Given the description of an element on the screen output the (x, y) to click on. 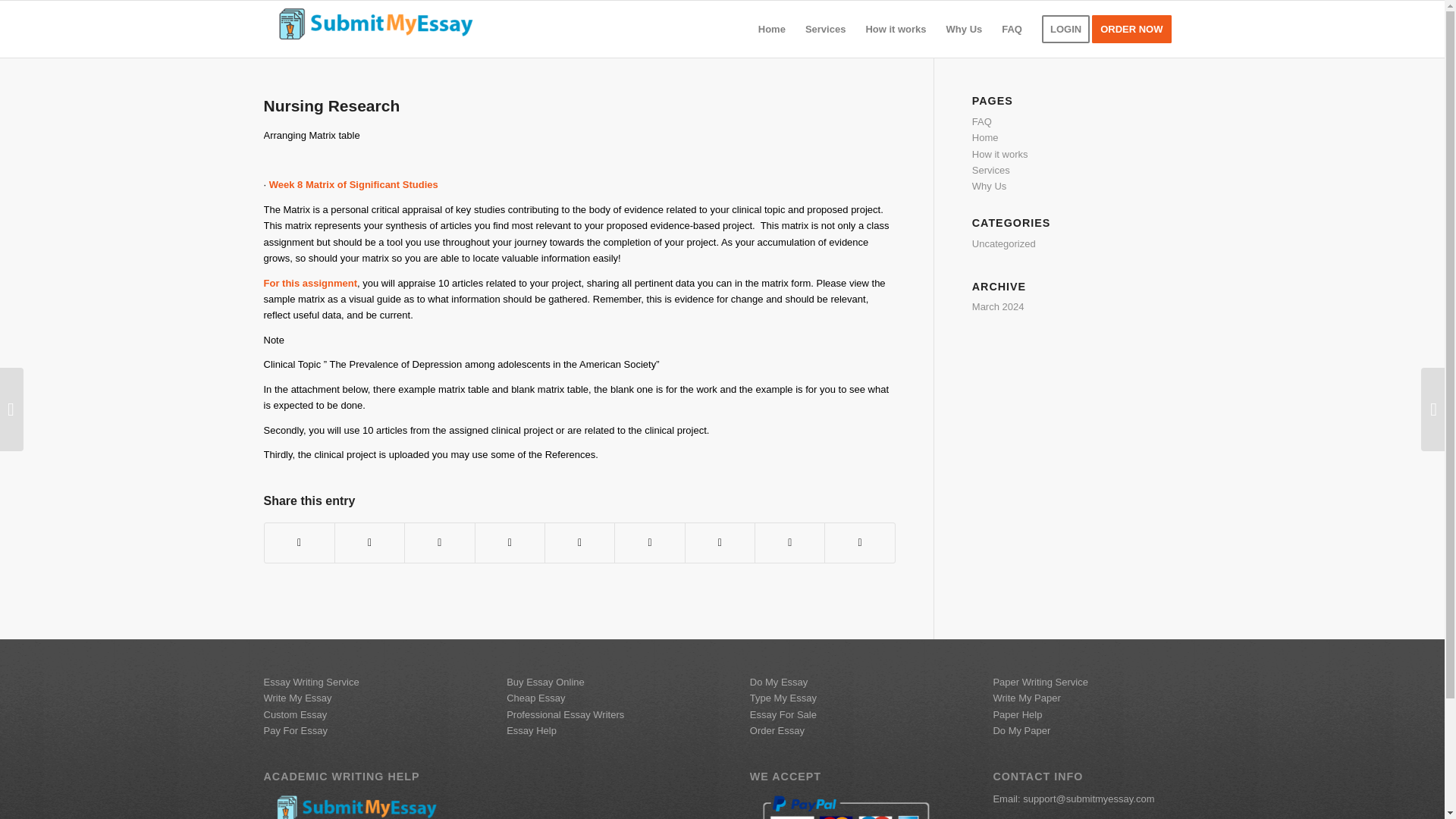
Services (991, 170)
Nursing Research (331, 105)
Why Us (989, 185)
Home (985, 137)
FAQ (981, 121)
Services (825, 28)
Why Us (964, 28)
Week 8 Matrix of Significant Studies (353, 184)
Permanent Link: Nursing Research (331, 105)
Uncategorized (1003, 243)
ORDER NOW (1136, 28)
LOGIN (1065, 28)
How it works (999, 153)
March 2024 (998, 306)
How it works (896, 28)
